Given the description of an element on the screen output the (x, y) to click on. 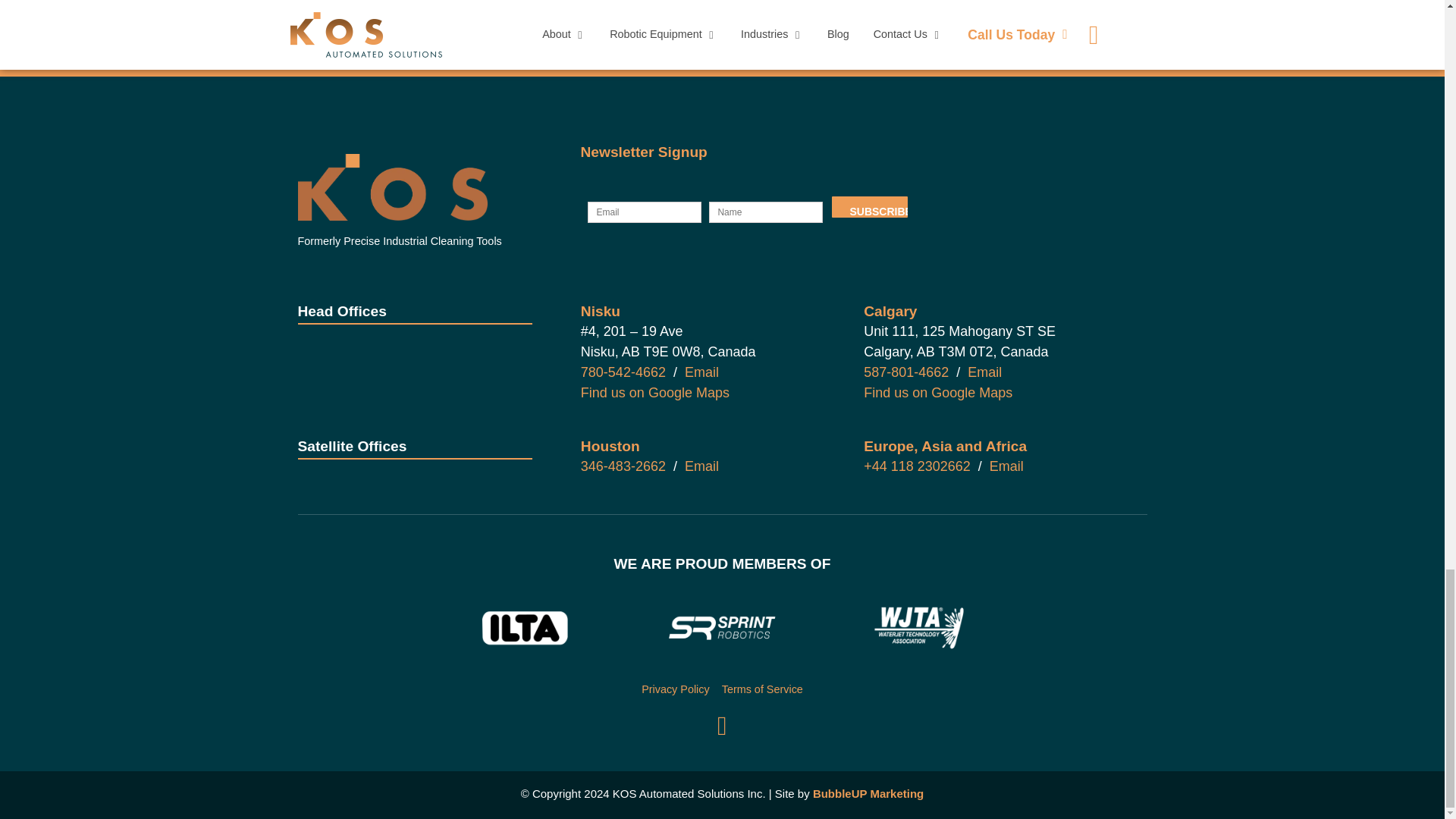
Edmonton Web Design Company (867, 793)
Subscribe (869, 206)
